Given the description of an element on the screen output the (x, y) to click on. 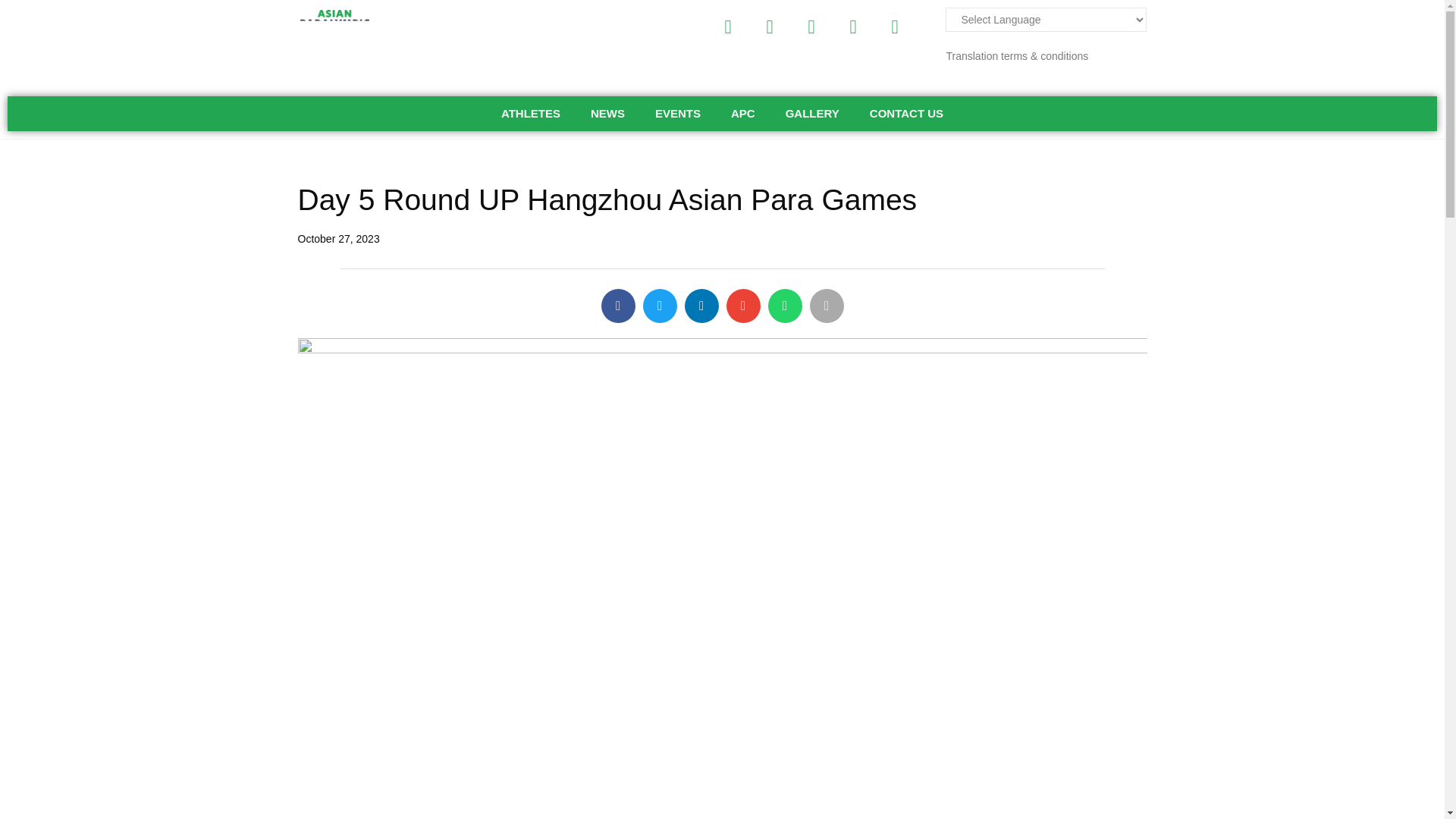
ATHLETES (530, 113)
APC (743, 113)
CONTACT US (906, 113)
NEWS (607, 113)
EVENTS (678, 113)
GALLERY (812, 113)
